Given the description of an element on the screen output the (x, y) to click on. 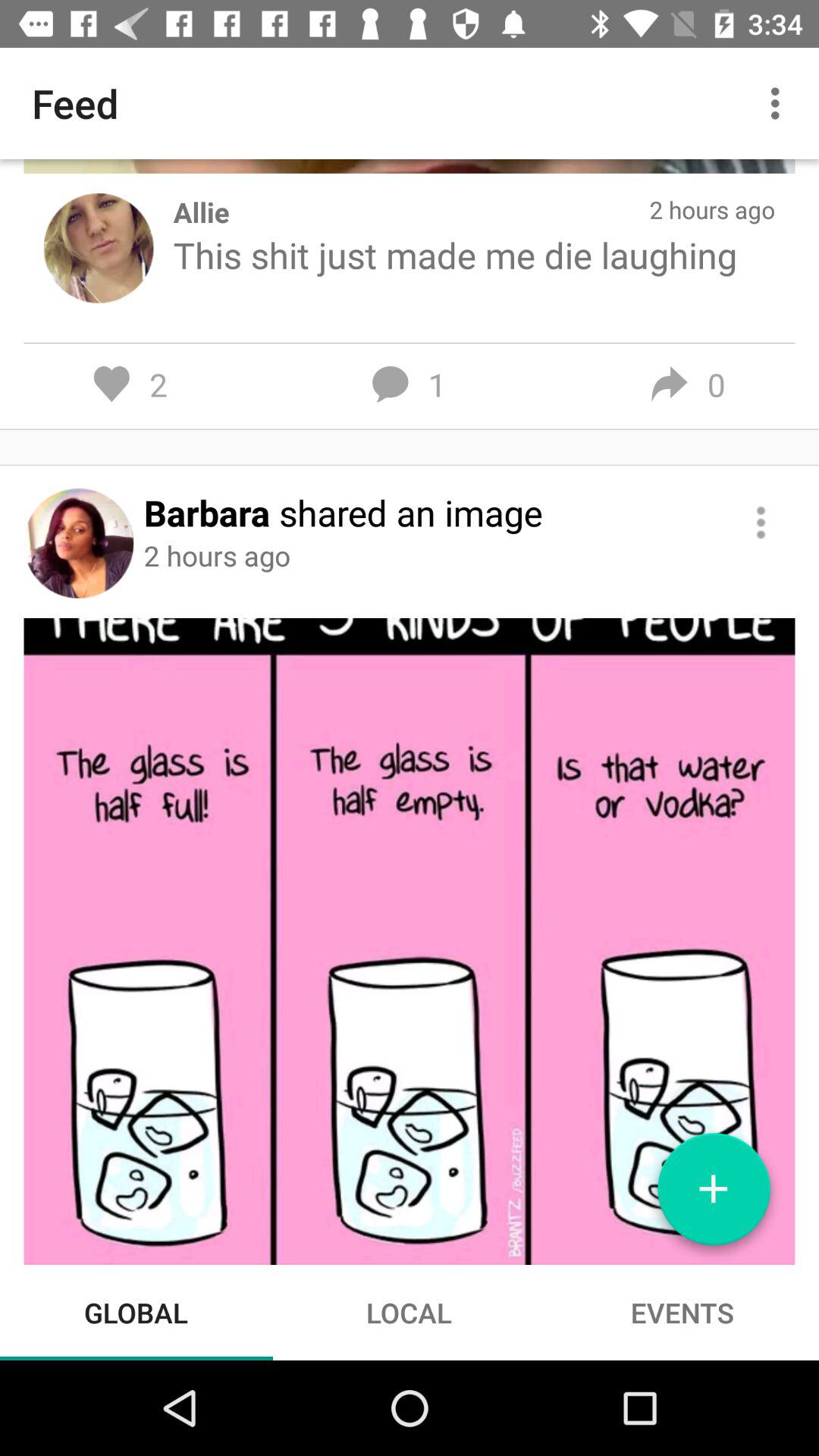
create a post (713, 1194)
